Given the description of an element on the screen output the (x, y) to click on. 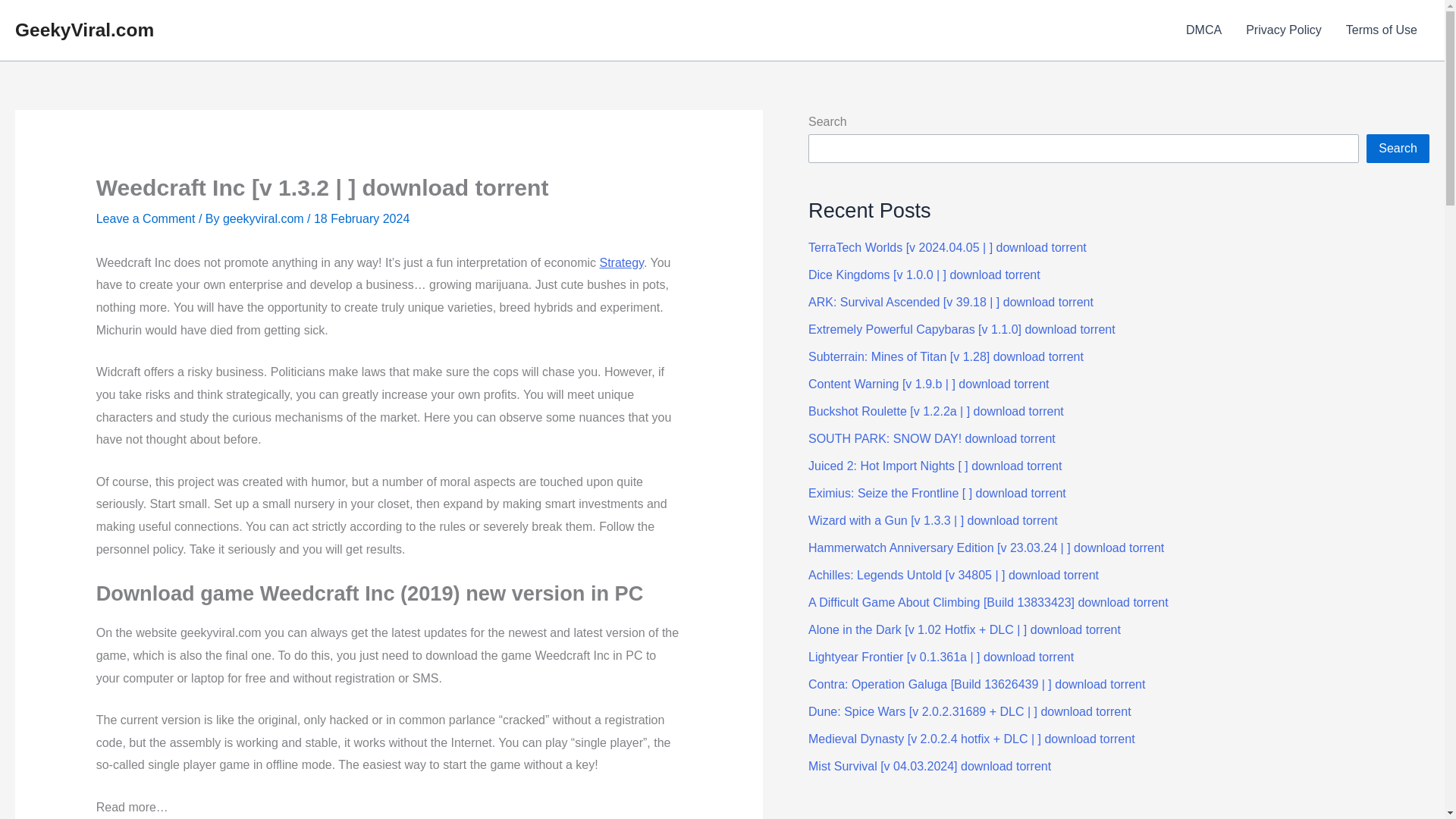
GeekyViral.com (84, 29)
Strategy (620, 262)
Leave a Comment (145, 218)
DMCA (1203, 30)
Privacy Policy (1283, 30)
geekyviral.com (264, 218)
View all posts by geekyviral.com (264, 218)
Terms of Use (1381, 30)
